Given the description of an element on the screen output the (x, y) to click on. 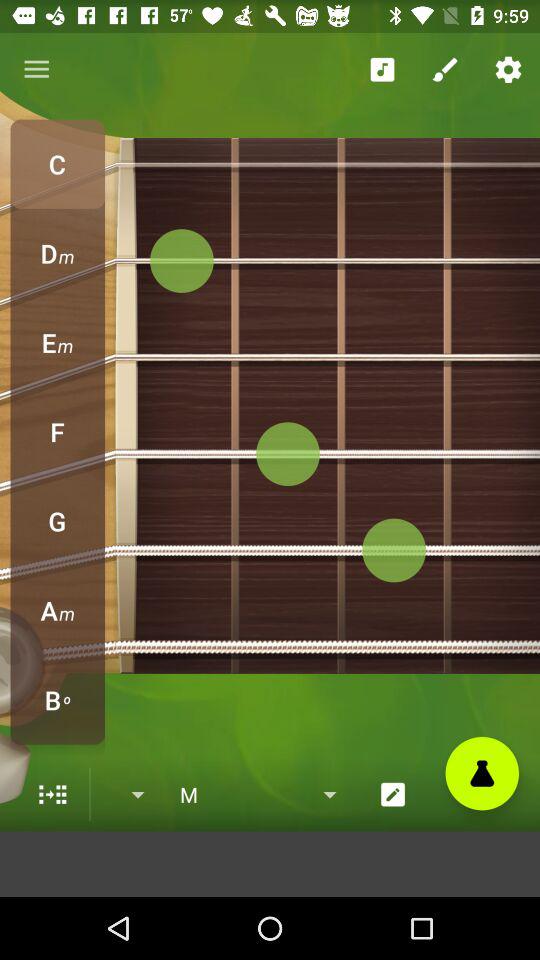
menu option (52, 794)
